Given the description of an element on the screen output the (x, y) to click on. 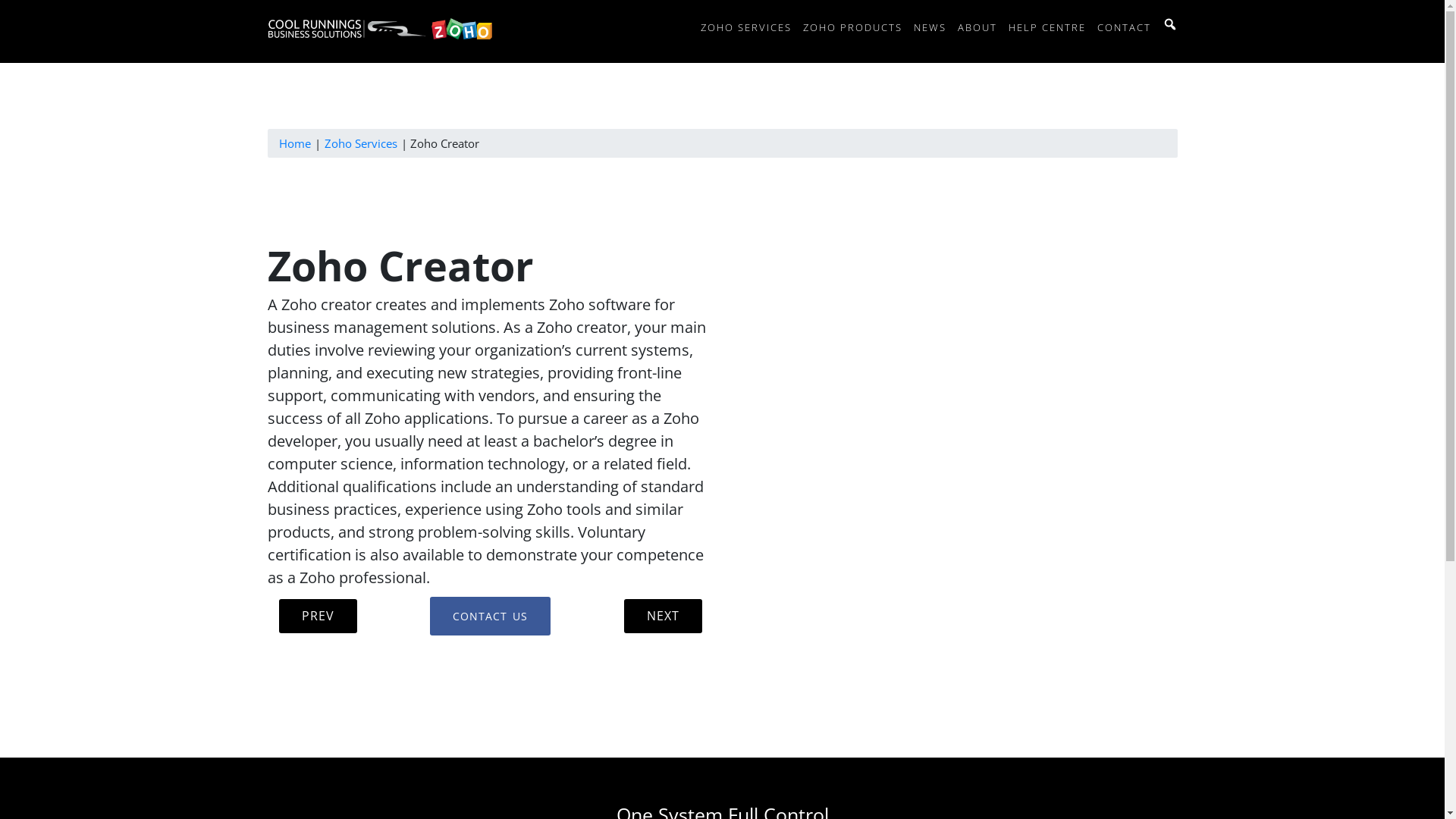
Home Element type: text (294, 142)
NEXT Element type: text (662, 616)
ZOHO PRODUCTS Element type: text (852, 27)
PREV Element type: text (318, 616)
Zoho Services Element type: text (360, 142)
ABOUT Element type: text (977, 27)
CONTACT US Element type: text (489, 615)
CONTACT Element type: text (1123, 27)
Skip to primary navigation Element type: text (0, 0)
CRBiz Is Your Zoho Authorised Partner Element type: text (313, 93)
NEWS Element type: text (930, 27)
HELP CENTRE Element type: text (1046, 27)
ZOHO SERVICES Element type: text (745, 27)
